Given the description of an element on the screen output the (x, y) to click on. 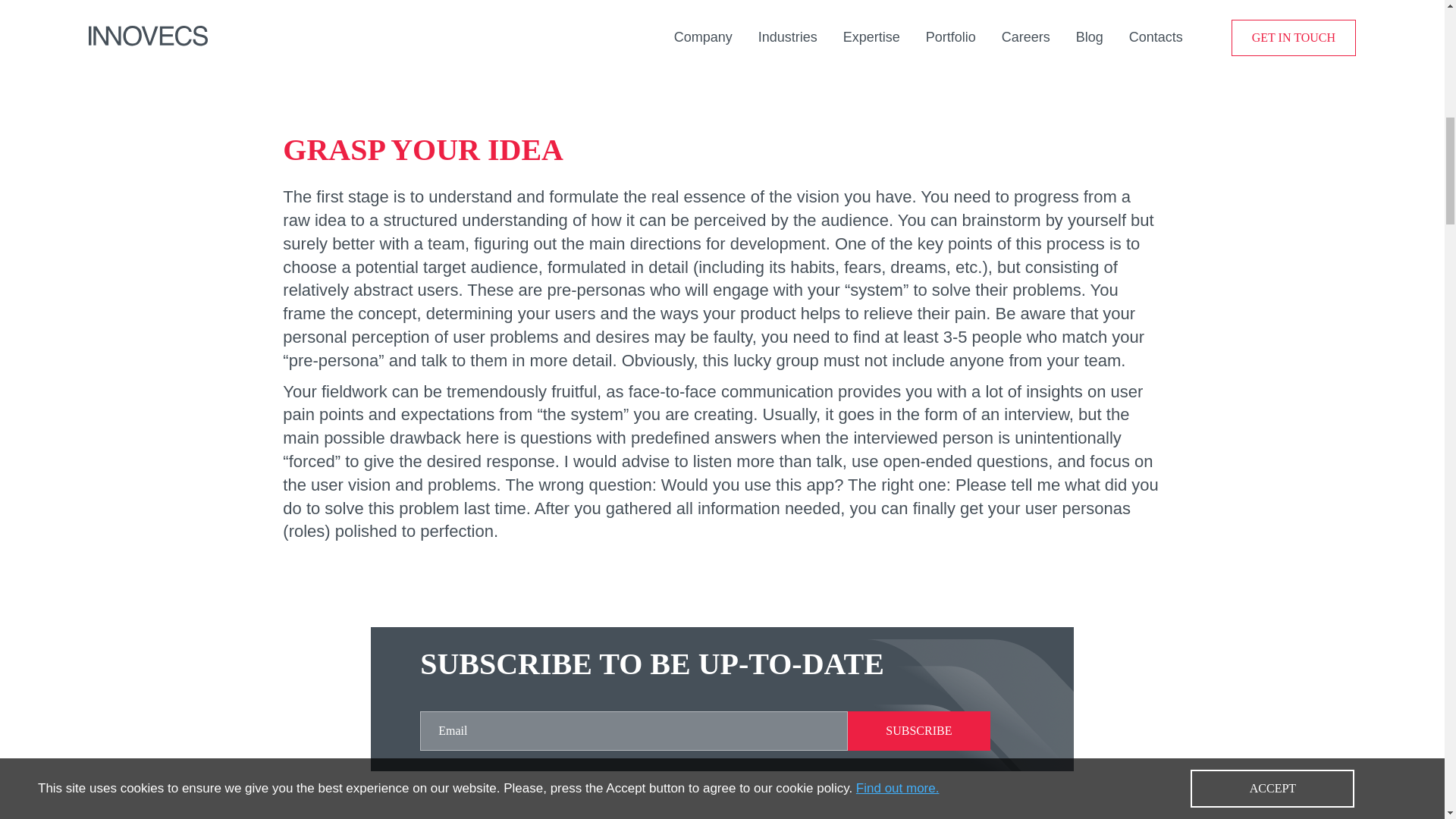
SUBSCRIBE (918, 731)
